Given the description of an element on the screen output the (x, y) to click on. 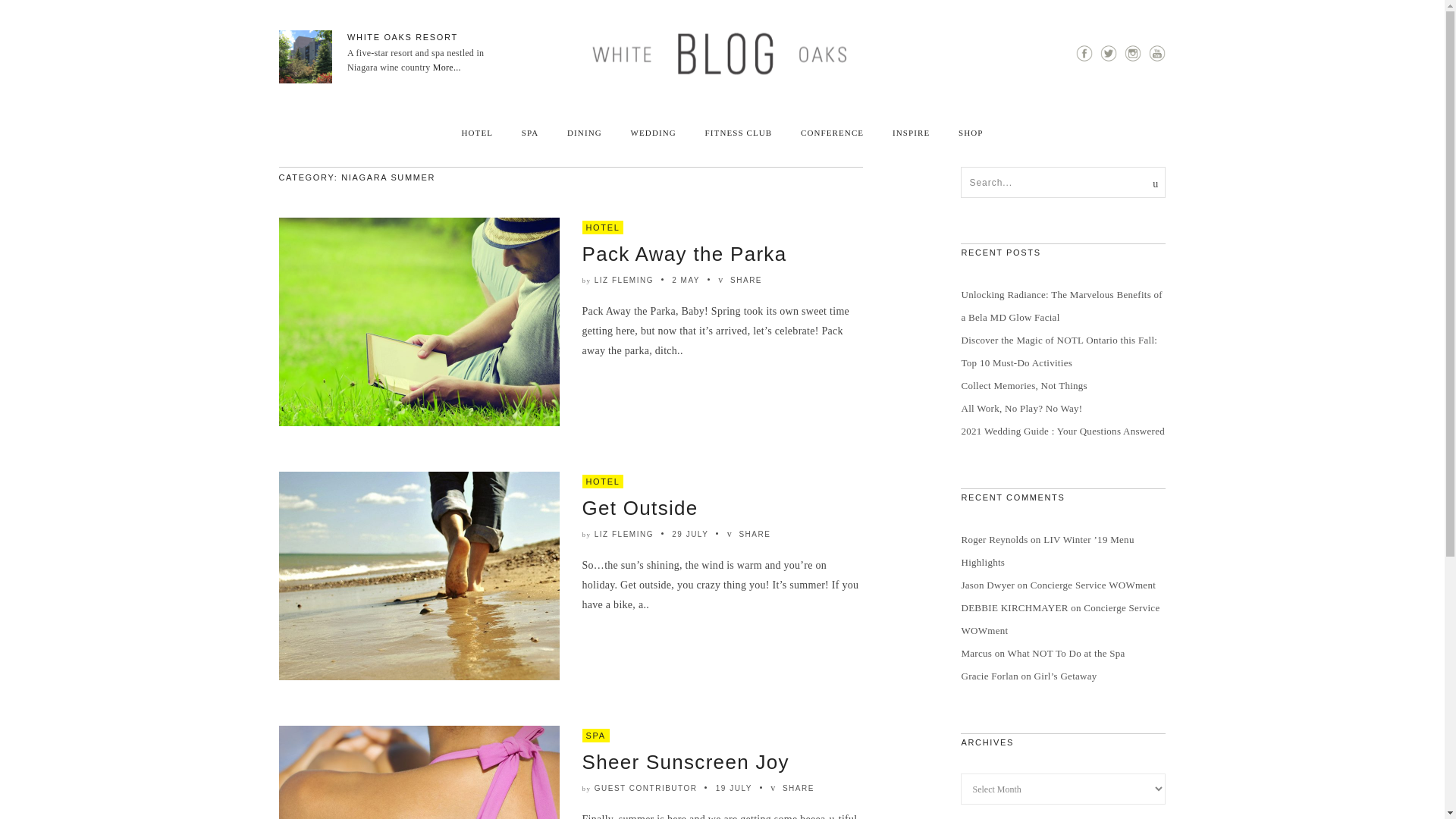
Posts by Guest Contributor (645, 787)
July 19, 2013 3:59 (734, 787)
CONFERENCE (831, 132)
Instagram (1132, 59)
HOTEL (477, 132)
Posts by Liz Fleming (623, 280)
WHITE OAKS RESORT (402, 36)
WEDDING (653, 132)
July 29, 2013 10:32 (689, 533)
More... (446, 67)
